Given the description of an element on the screen output the (x, y) to click on. 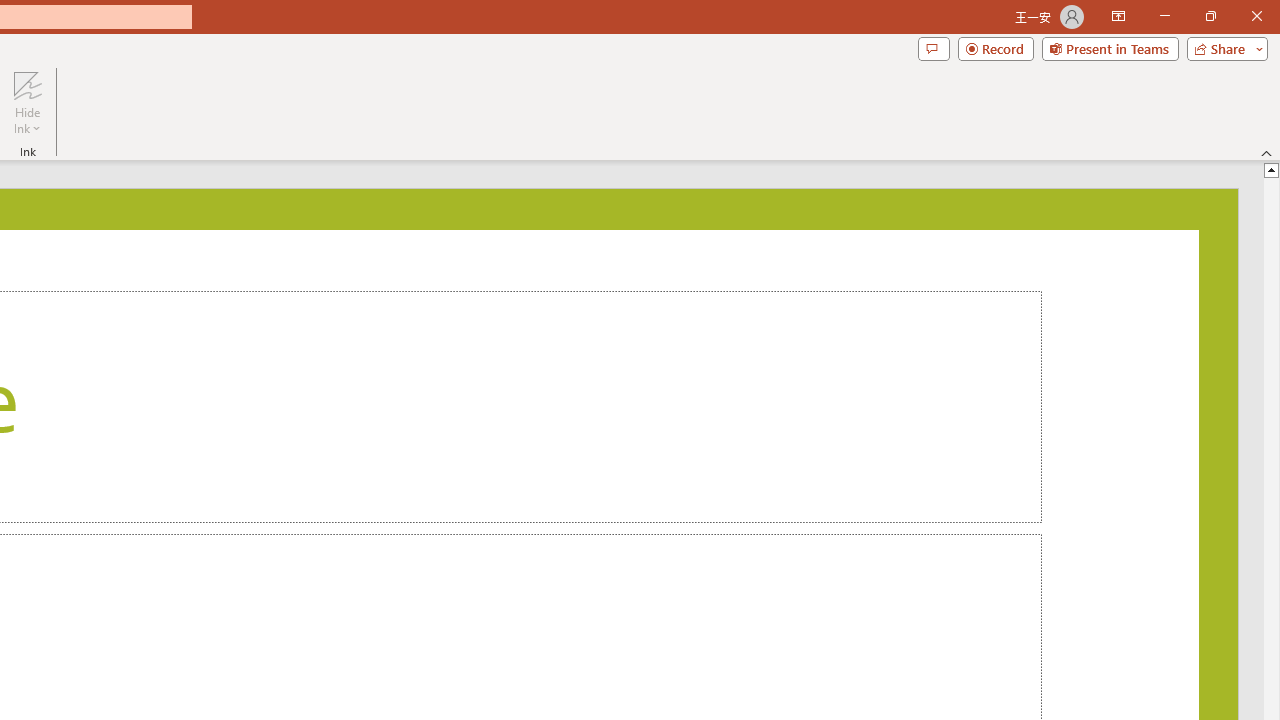
Hide Ink (27, 102)
Hide Ink (27, 84)
